Given the description of an element on the screen output the (x, y) to click on. 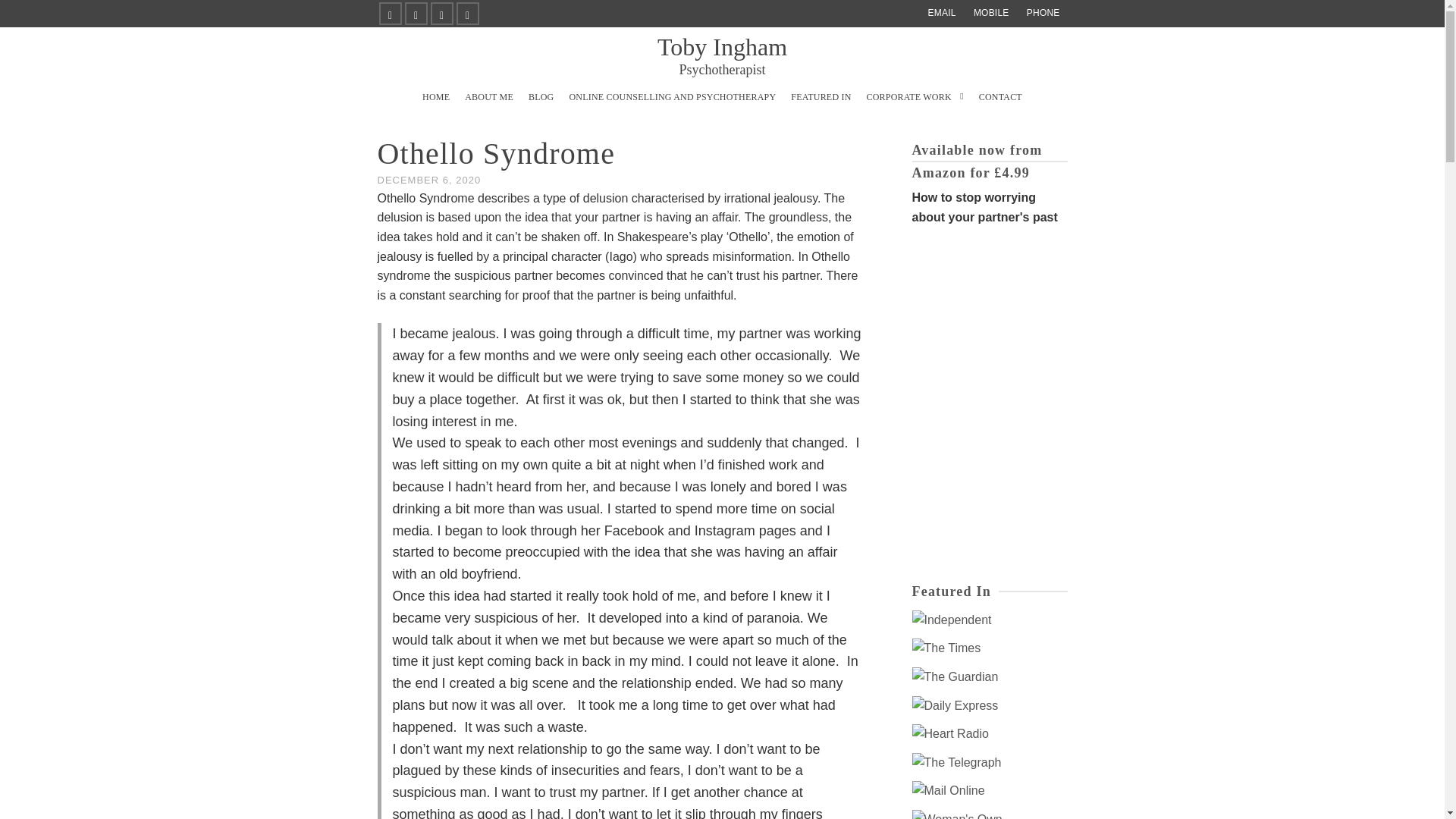
HOME (435, 96)
ONLINE COUNSELLING AND PSYCHOTHERAPY (671, 96)
CONTACT (1000, 96)
ABOUT ME (489, 96)
BLOG (722, 54)
PHONE (540, 96)
CORPORATE WORK (1043, 12)
MOBILE (915, 96)
FEATURED IN (991, 12)
